Given the description of an element on the screen output the (x, y) to click on. 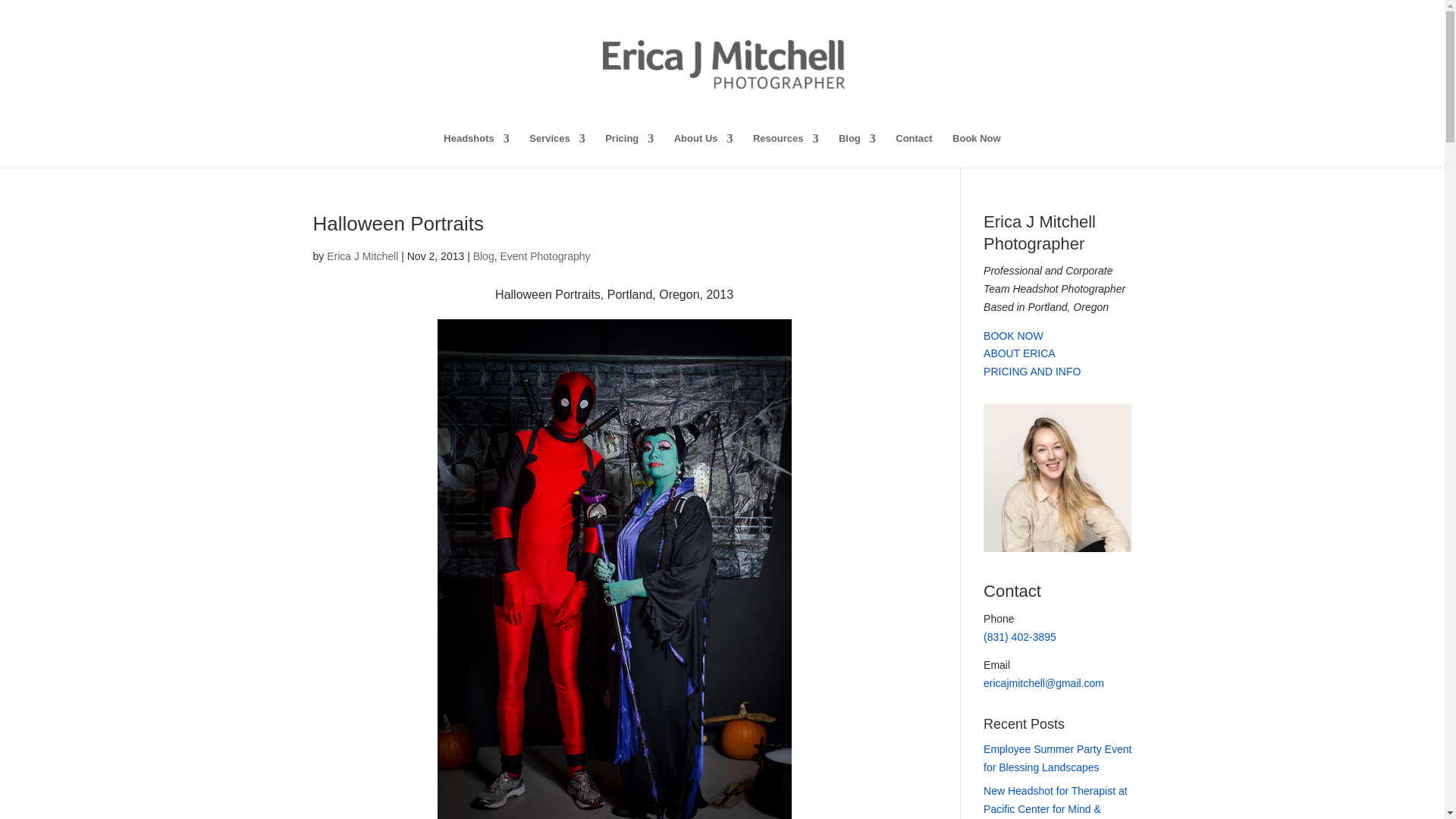
Book Now (976, 150)
Resources (785, 150)
Services (557, 150)
Posts by Erica J Mitchell (361, 256)
Blog (857, 150)
Headshots (476, 150)
Pricing (629, 150)
Contact (913, 150)
About Us (703, 150)
